Given the description of an element on the screen output the (x, y) to click on. 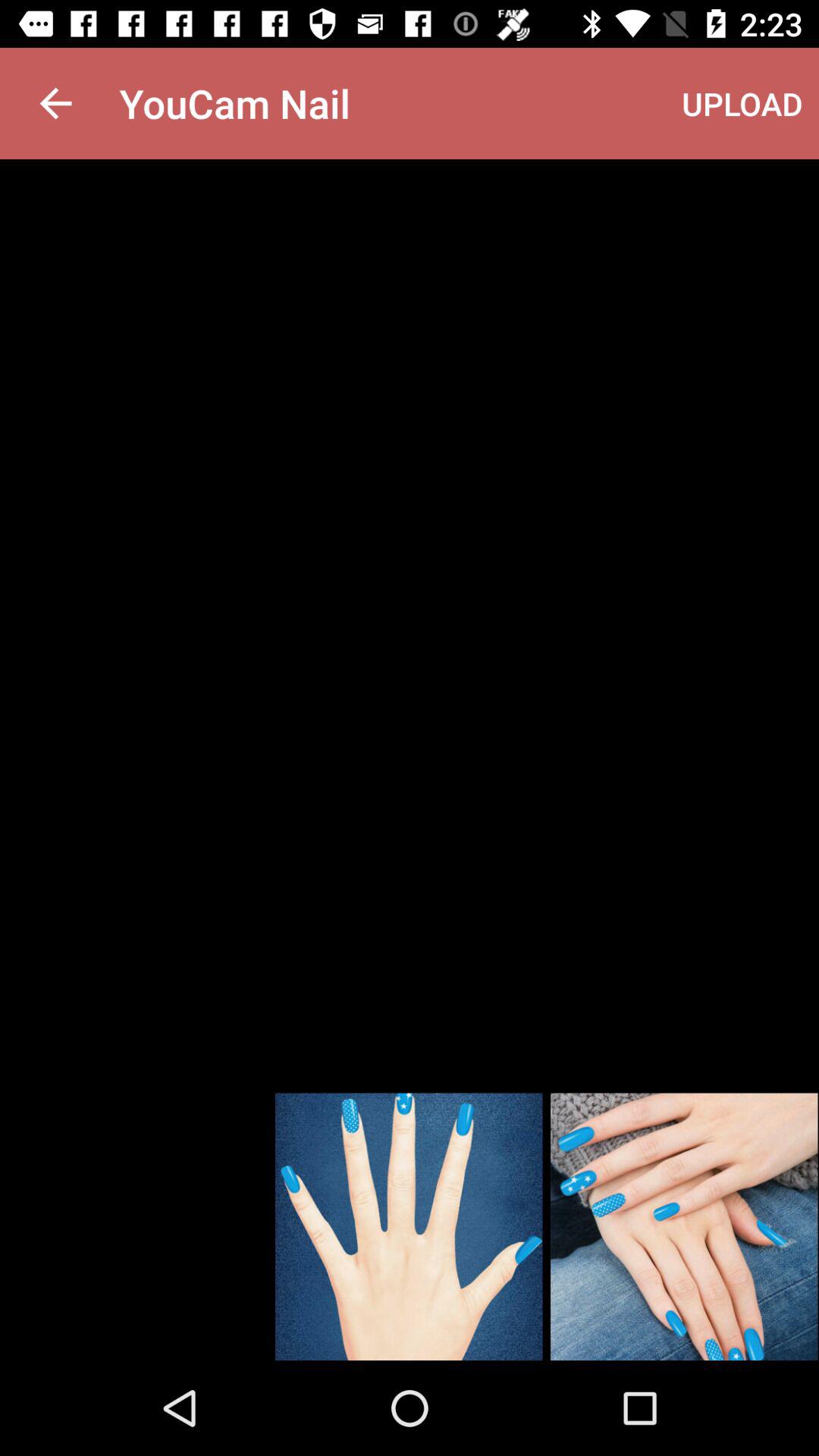
open upload (742, 103)
